Given the description of an element on the screen output the (x, y) to click on. 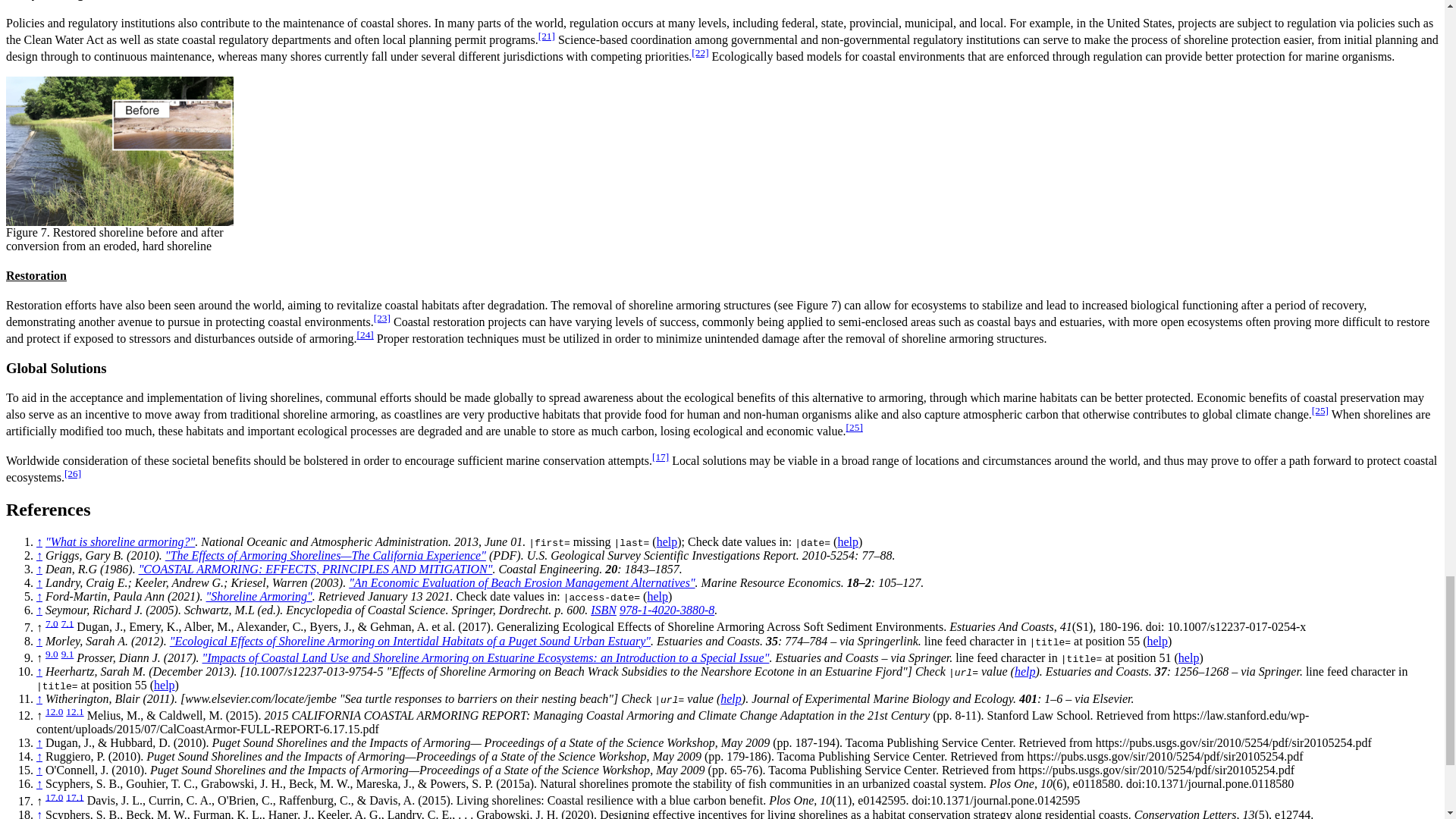
Help:CS1 errors (848, 541)
Help:CS1 errors (1157, 640)
Help:CS1 errors (667, 541)
Help:CS1 errors (657, 595)
